Given the description of an element on the screen output the (x, y) to click on. 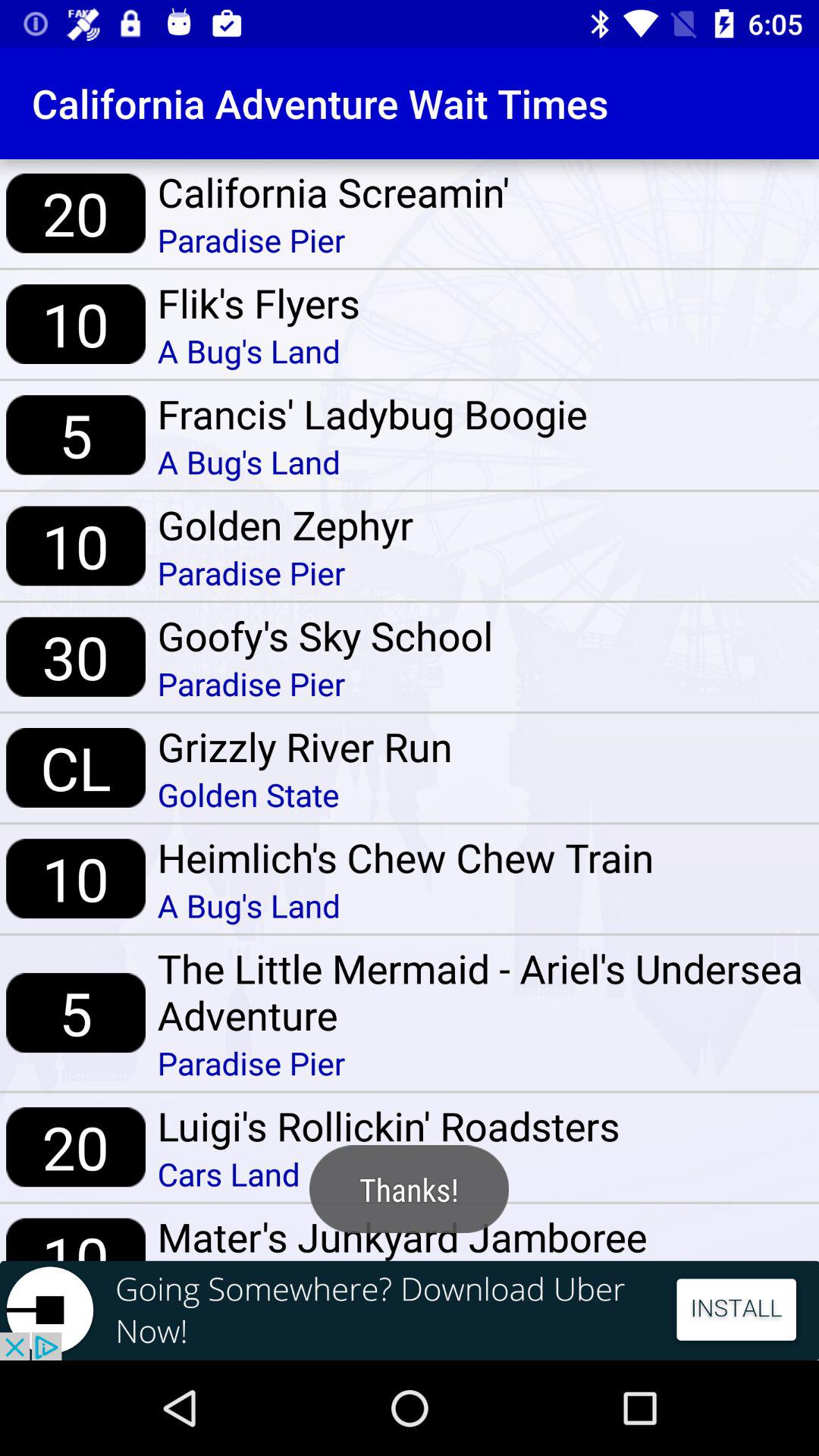
select icon below paradise pier (304, 746)
